Given the description of an element on the screen output the (x, y) to click on. 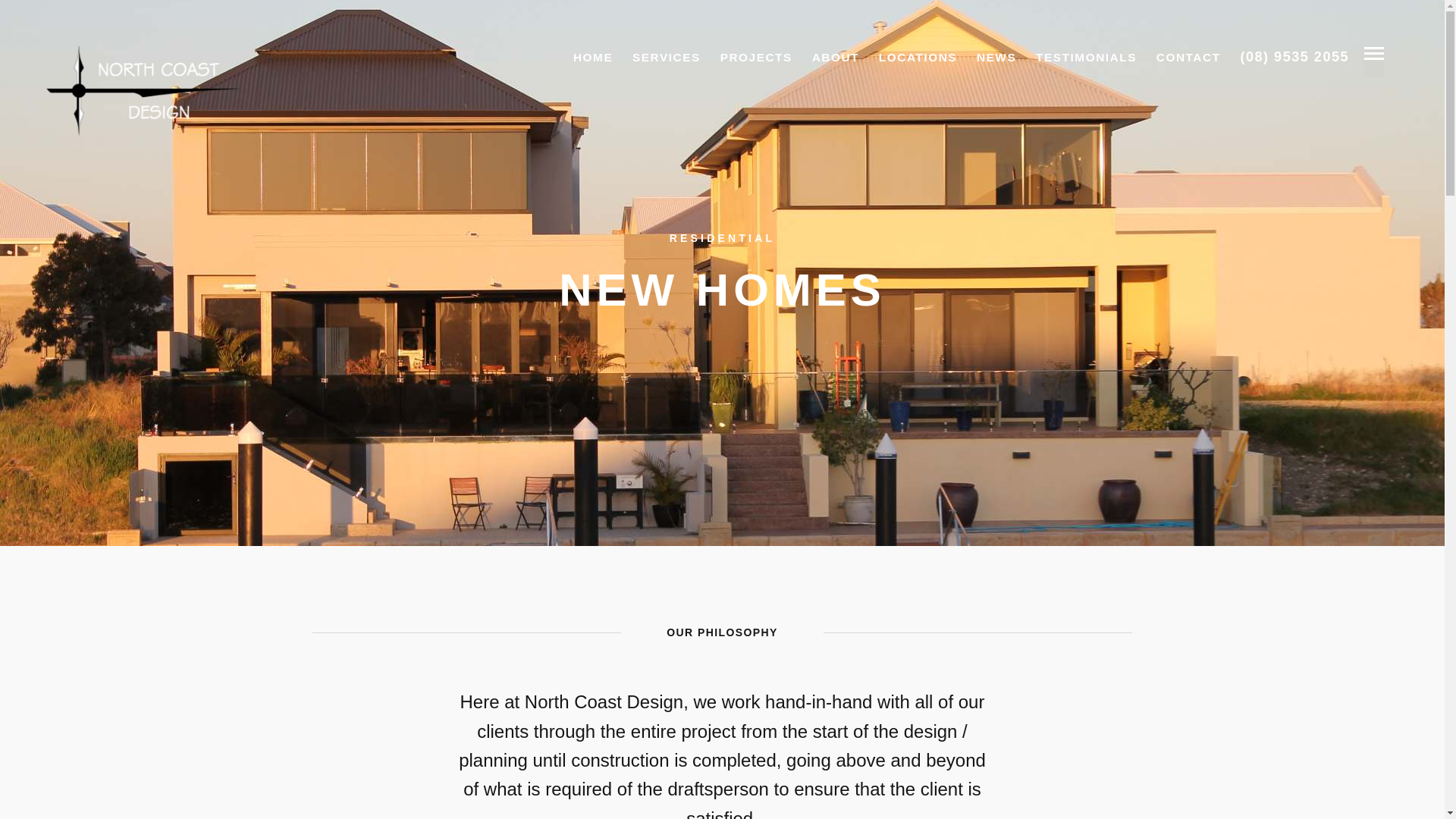
RESIDENTIAL Element type: text (722, 238)
HOME Element type: text (592, 57)
SERVICES Element type: text (666, 57)
(08) 9535 2055 Element type: text (1294, 56)
ABOUT Element type: text (835, 57)
North Coast Design Element type: hover (142, 90)
PROJECTS Element type: text (756, 57)
LOCATIONS Element type: text (917, 57)
TESTIMONIALS Element type: text (1086, 57)
NEWS Element type: text (996, 57)
CONTACT Element type: text (1188, 57)
